Given the description of an element on the screen output the (x, y) to click on. 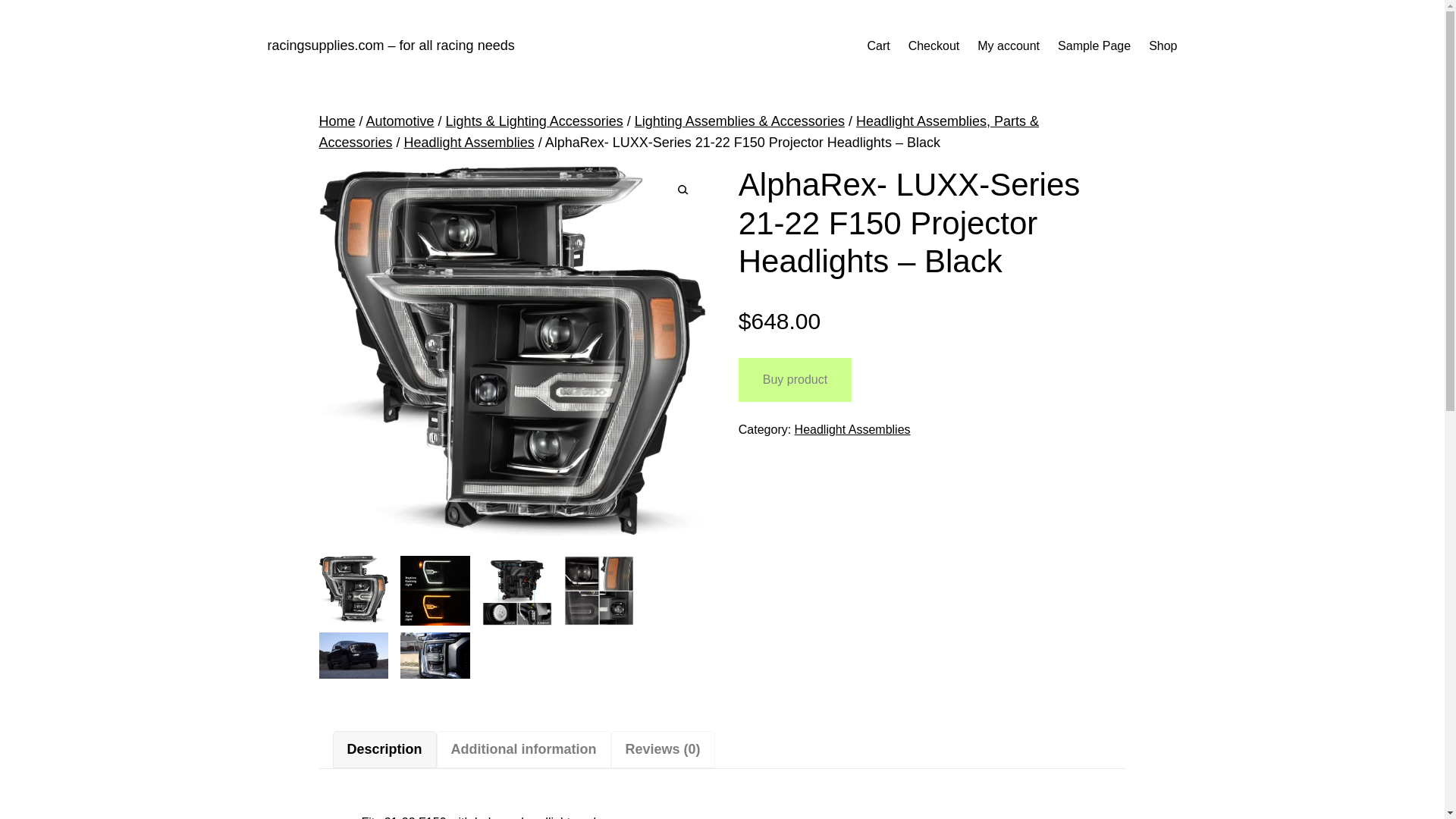
Additional information (523, 749)
Headlight Assemblies (469, 142)
Buy product (794, 379)
Home (336, 120)
Sample Page (1094, 46)
Automotive (399, 120)
My account (1007, 46)
Cart (877, 46)
Shop (1162, 46)
Description (384, 749)
Checkout (933, 46)
Headlight Assemblies (852, 429)
